Given the description of an element on the screen output the (x, y) to click on. 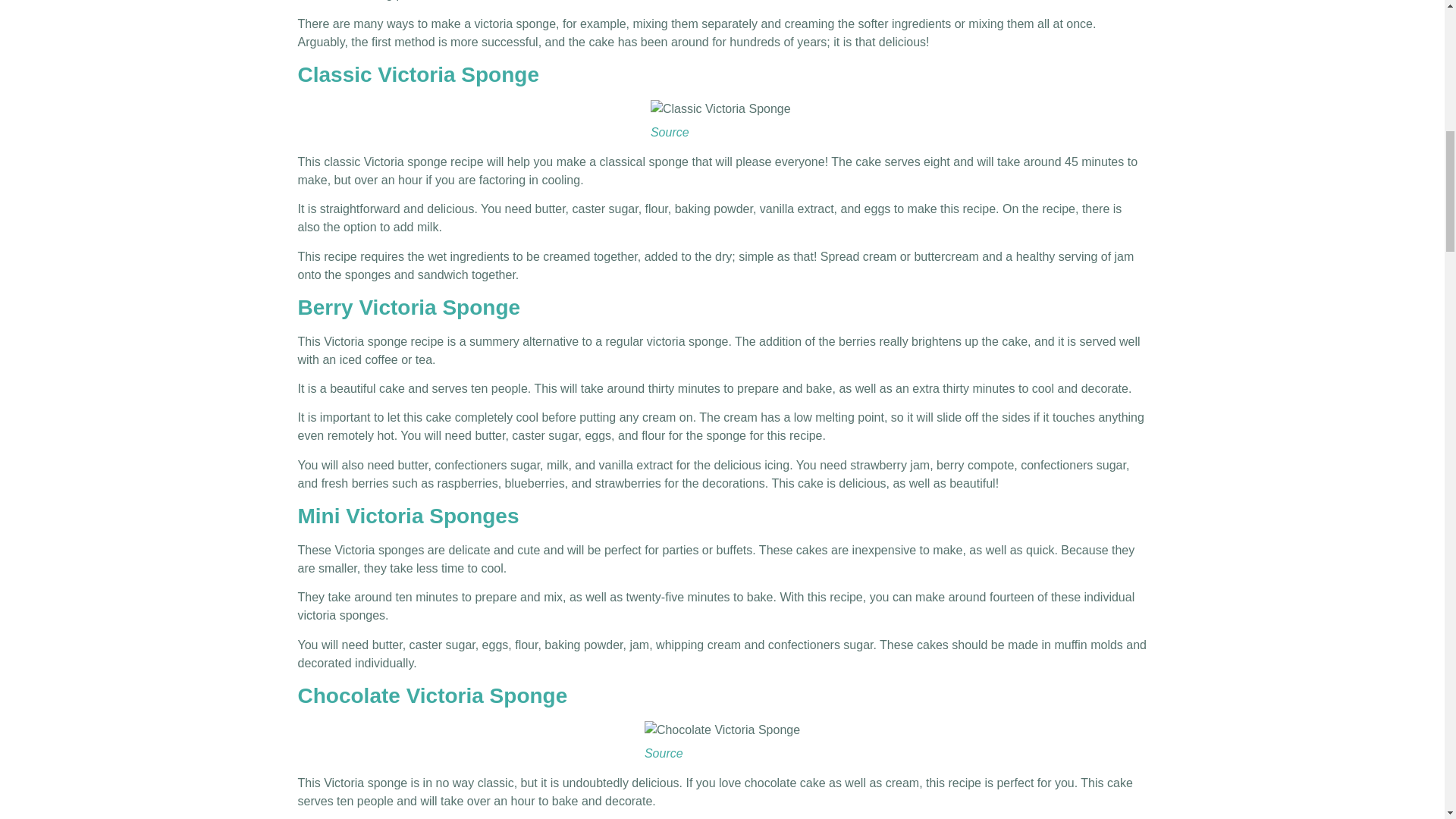
Berry Victoria Sponge (408, 307)
Chocolate Victoria Sponge (432, 695)
Mini Victoria Sponges (407, 515)
Classic Victoria Sponge  (420, 74)
Source (663, 753)
Source (669, 132)
